Given the description of an element on the screen output the (x, y) to click on. 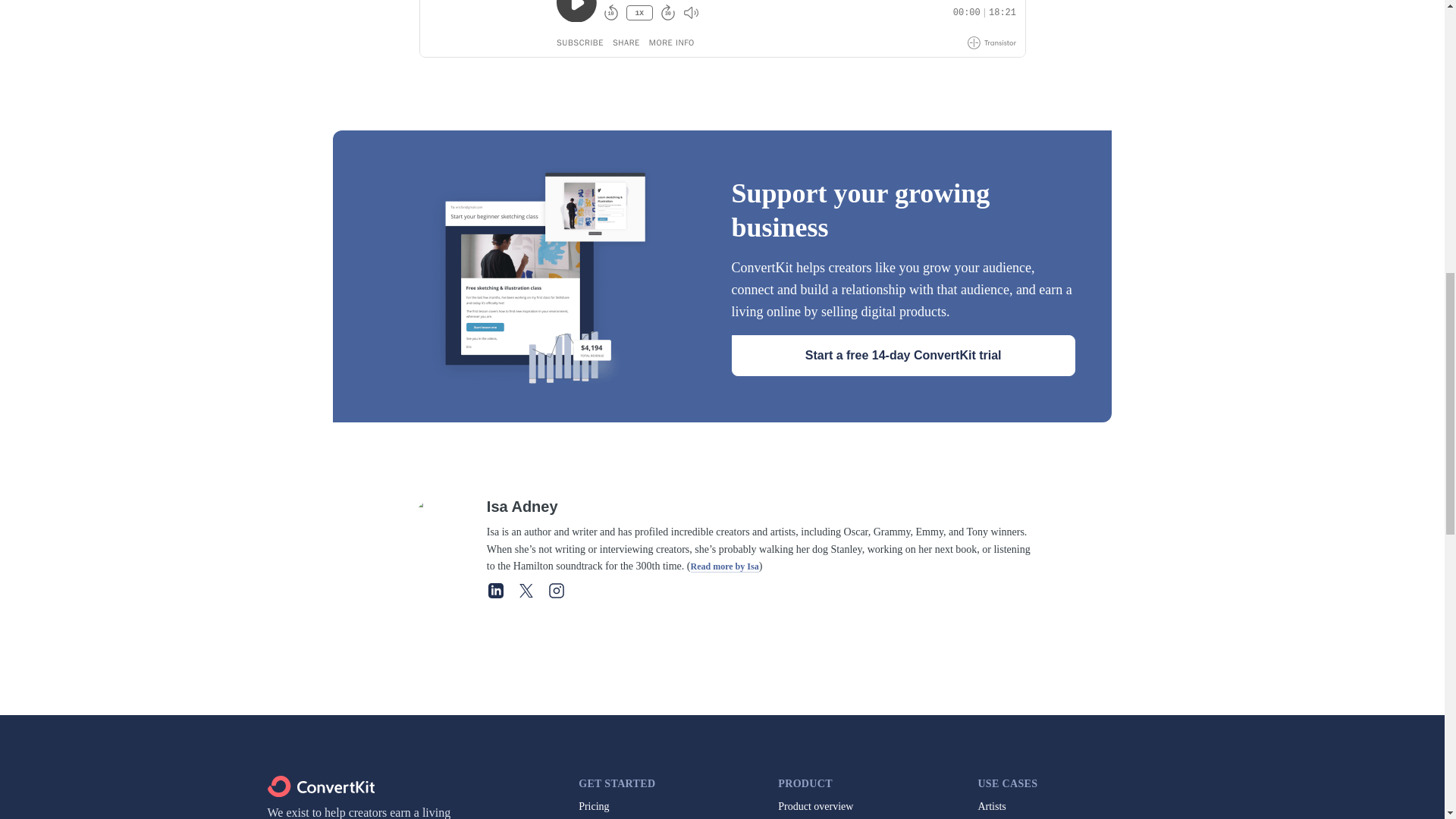
Pricing (593, 806)
Isa Adney (759, 506)
Product overview (815, 806)
Read more by Isa (724, 566)
Start a free 14-day ConvertKit trial (902, 354)
Artists (991, 806)
